Given the description of an element on the screen output the (x, y) to click on. 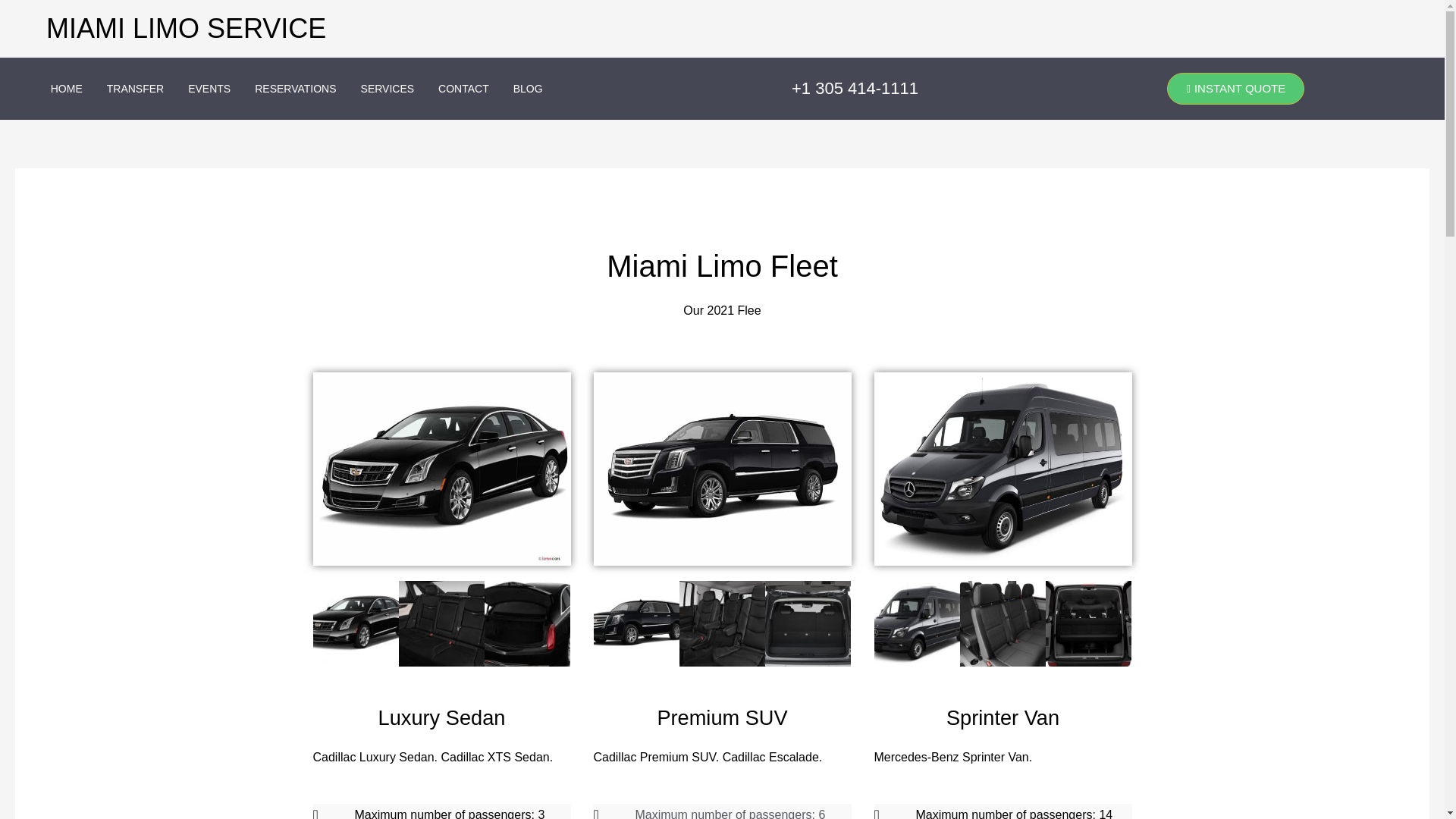
RESERVATIONS (295, 88)
MIAMI LIMO SERVICE (186, 28)
SERVICES (387, 88)
EVENTS (209, 88)
HOME (66, 88)
CONTACT (463, 88)
TRANSFER (135, 88)
